Given the description of an element on the screen output the (x, y) to click on. 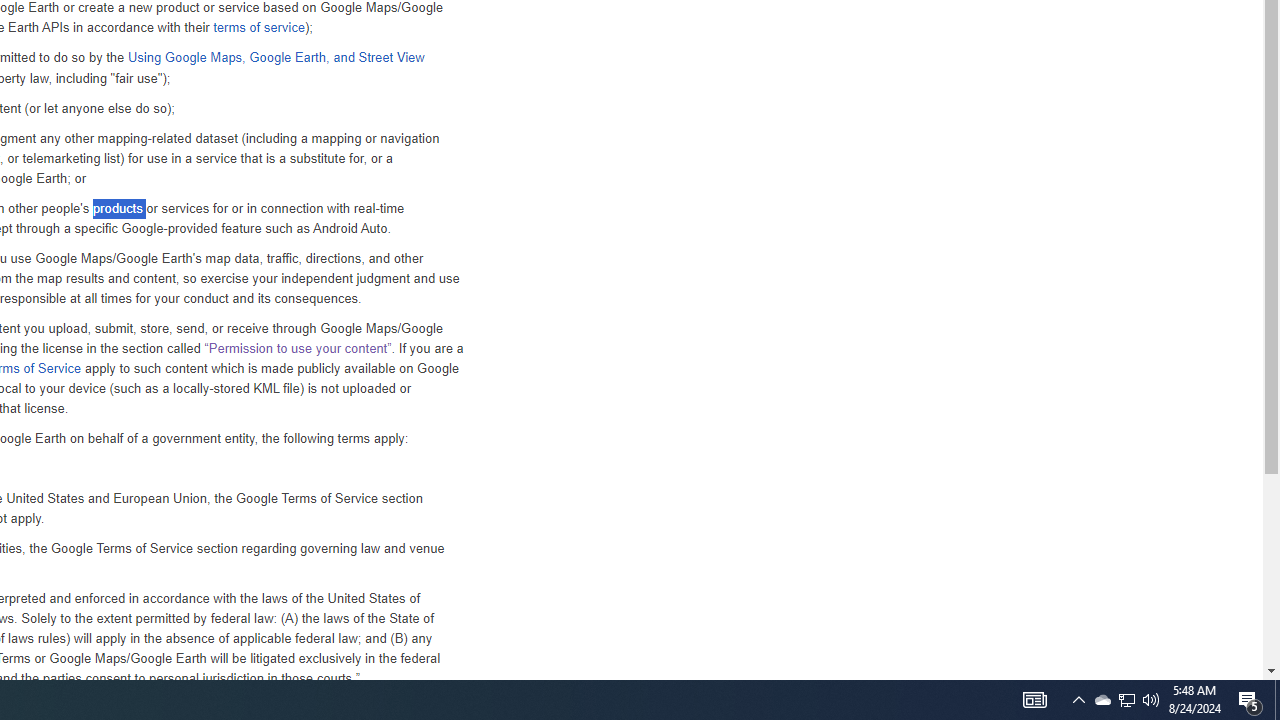
Using Google Maps, Google Earth, and Street View (275, 57)
terms of service (258, 28)
